Given the description of an element on the screen output the (x, y) to click on. 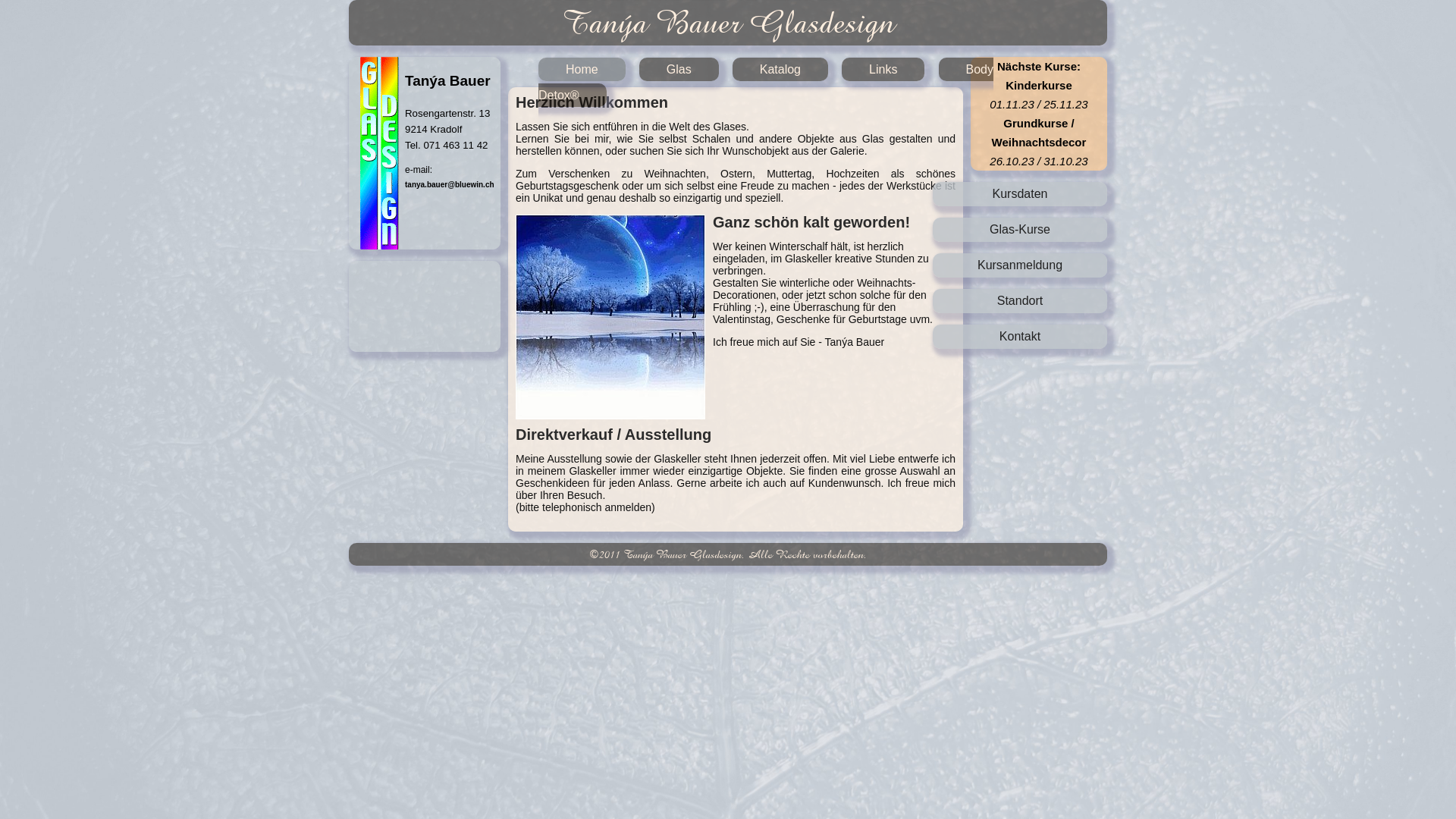
Kursdaten Element type: text (1019, 194)
tanya.bauer@bluewin.ch Element type: text (449, 184)
Katalog Element type: text (780, 69)
Glas-Kurse Element type: text (1019, 229)
Standort Element type: text (1019, 300)
Kursanmeldung Element type: text (1019, 265)
Home Element type: text (581, 69)
Links Element type: text (882, 69)
Kontakt Element type: text (1019, 336)
Glas Element type: text (678, 69)
